Given the description of an element on the screen output the (x, y) to click on. 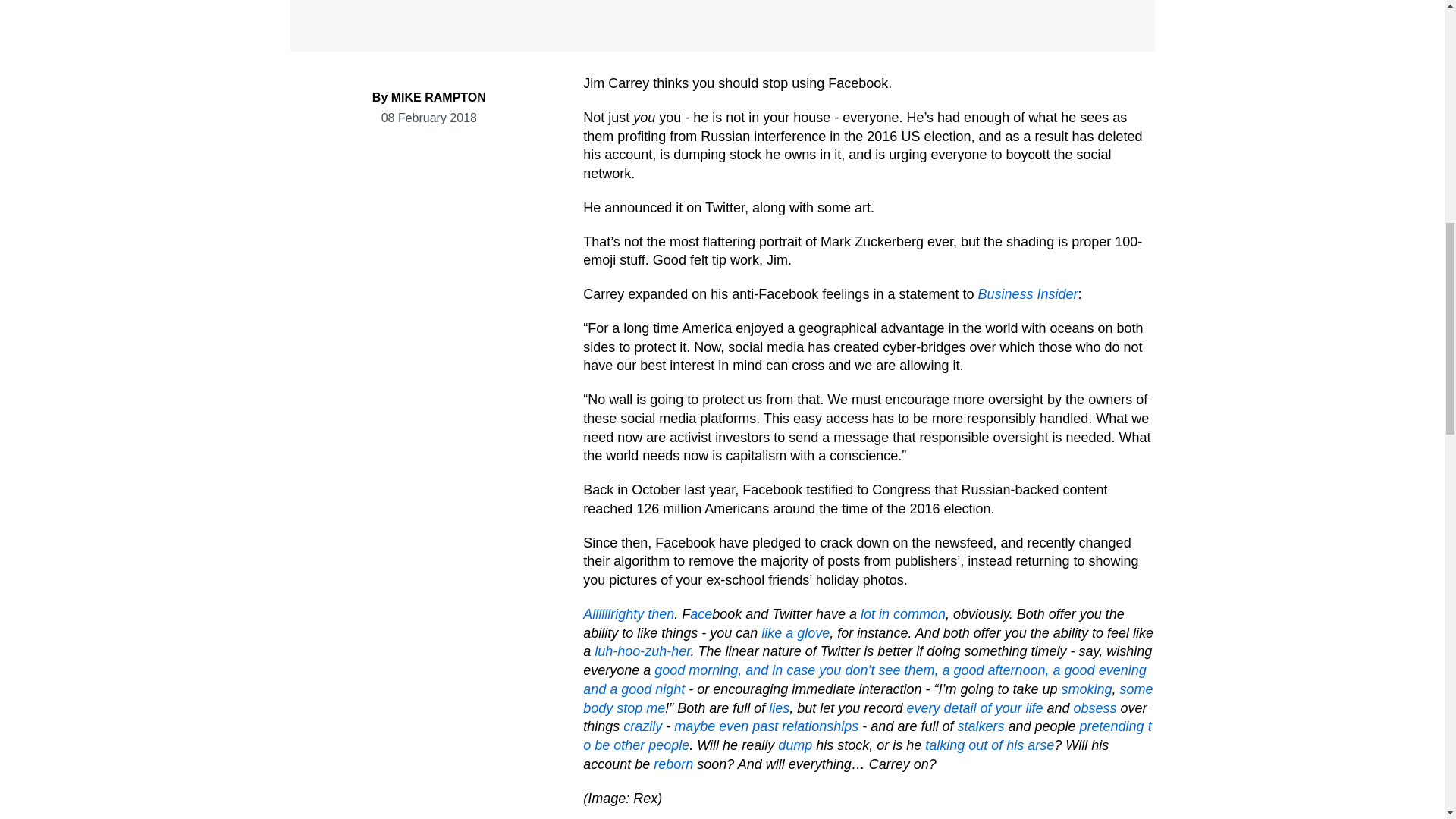
smoking (1086, 688)
lot in common (902, 613)
By MIKE RAMPTON (429, 97)
ace (700, 613)
luh-hoo-zuh-her (642, 651)
Allllllrighty then (628, 613)
Business Insider (1026, 294)
like a glove (795, 632)
